Given the description of an element on the screen output the (x, y) to click on. 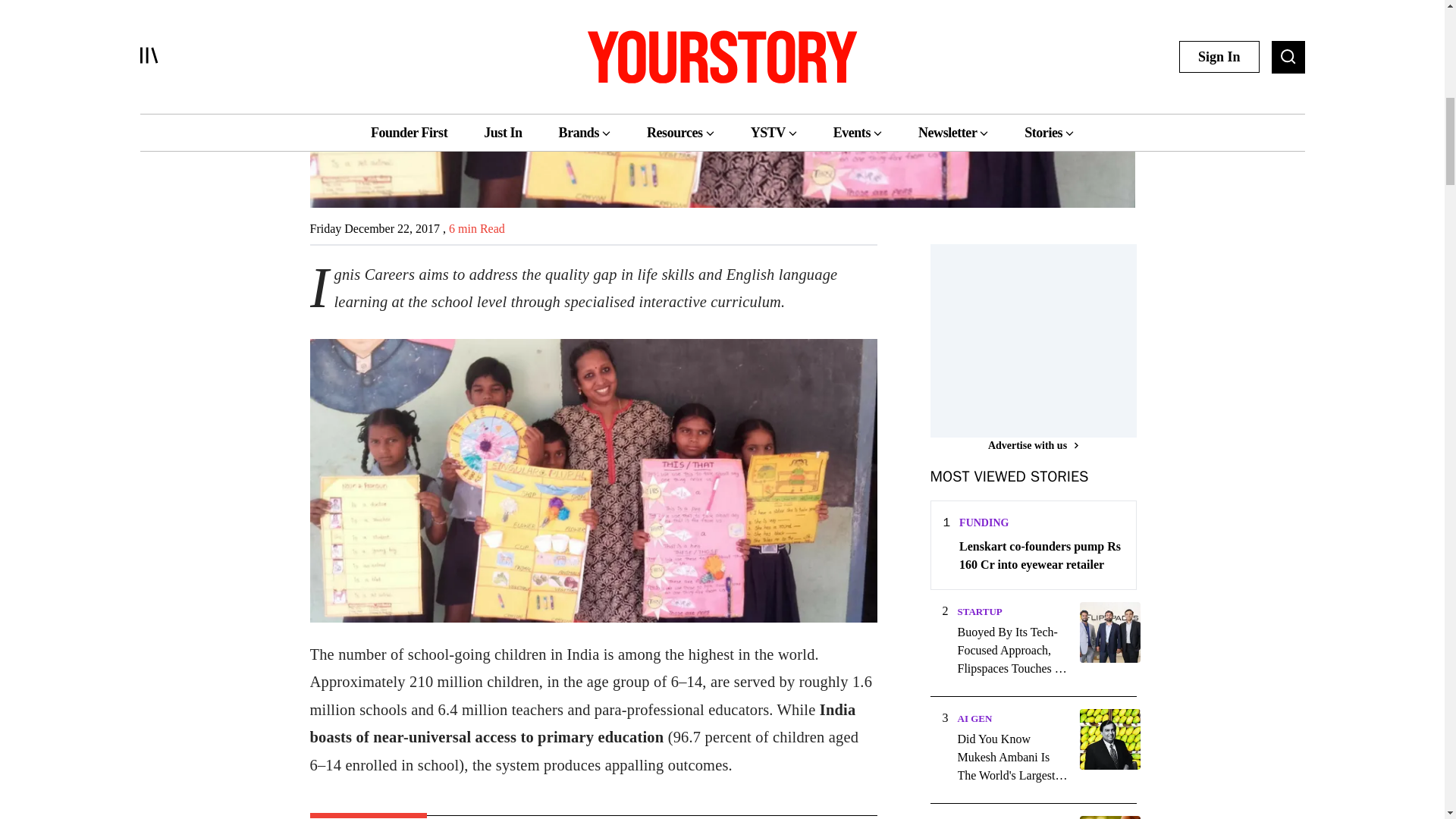
Lenskart co-founders pump Rs 160 Cr into eyewear retailer (1040, 555)
AI GEN (973, 717)
FUNDING (984, 522)
3rd party ad content (1043, 339)
Advertise with us (1032, 445)
STARTUP (978, 611)
